Given the description of an element on the screen output the (x, y) to click on. 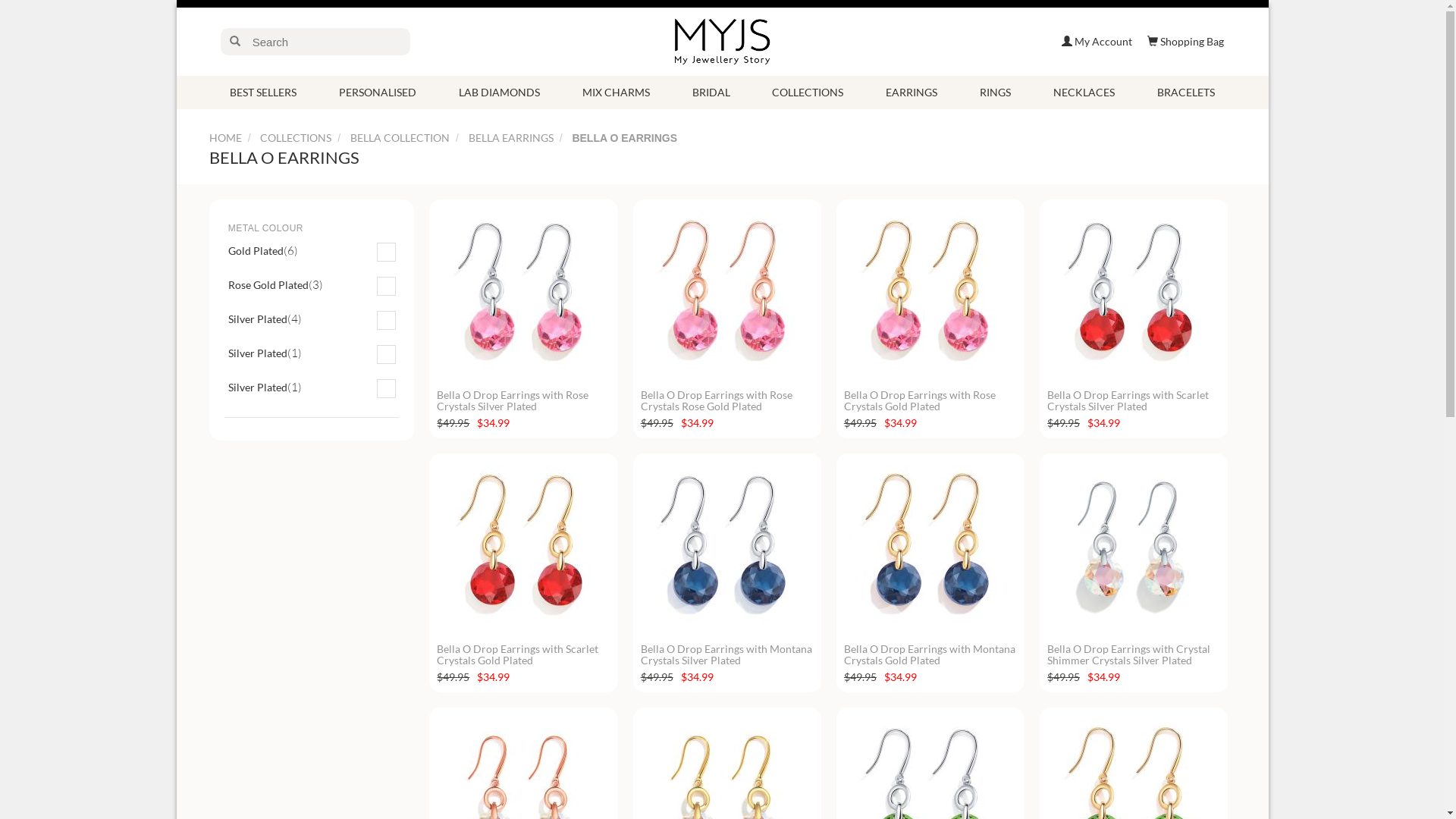
PERSONALISED Element type: text (377, 92)
NECKLACES Element type: text (1083, 92)
RINGS Element type: text (994, 92)
EARRINGS Element type: text (911, 92)
Silver Plated(1) Element type: text (311, 356)
Rose Gold Plated(3) Element type: text (311, 288)
COLLECTIONS Element type: text (296, 137)
COLLECTIONS Element type: text (807, 92)
BRACELETS Element type: text (1185, 92)
Silver Plated(1) Element type: text (311, 390)
Search Element type: hover (234, 41)
MIX CHARMS Element type: text (615, 92)
HOME Element type: text (226, 137)
BELLA EARRINGS Element type: text (511, 137)
Bella O Drop Earrings with Scarlet Crystals Gold Plated Element type: text (522, 654)
Bella O Drop Earrings with Rose Crystals Rose Gold Plated Element type: text (726, 400)
BRIDAL Element type: text (710, 92)
Bella O Drop Earrings with Scarlet Crystals Silver Plated Element type: text (1133, 400)
Bella O Drop Earrings with Montana Crystals Gold Plated Element type: text (930, 654)
LAB DIAMONDS Element type: text (498, 92)
BEST SELLERS Element type: text (262, 92)
BELLA COLLECTION Element type: text (400, 137)
Bella O Drop Earrings with Montana Crystals Silver Plated Element type: text (726, 654)
Shopping Bag Element type: text (1185, 40)
My Jewellery Story Element type: hover (721, 40)
My Account Element type: text (1096, 40)
Bella O Drop Earrings with Rose Crystals Gold Plated Element type: text (930, 400)
Gold Plated(6) Element type: text (311, 253)
Silver Plated(4) Element type: text (311, 322)
Bella O Drop Earrings with Rose Crystals Silver Plated Element type: text (522, 400)
